Given the description of an element on the screen output the (x, y) to click on. 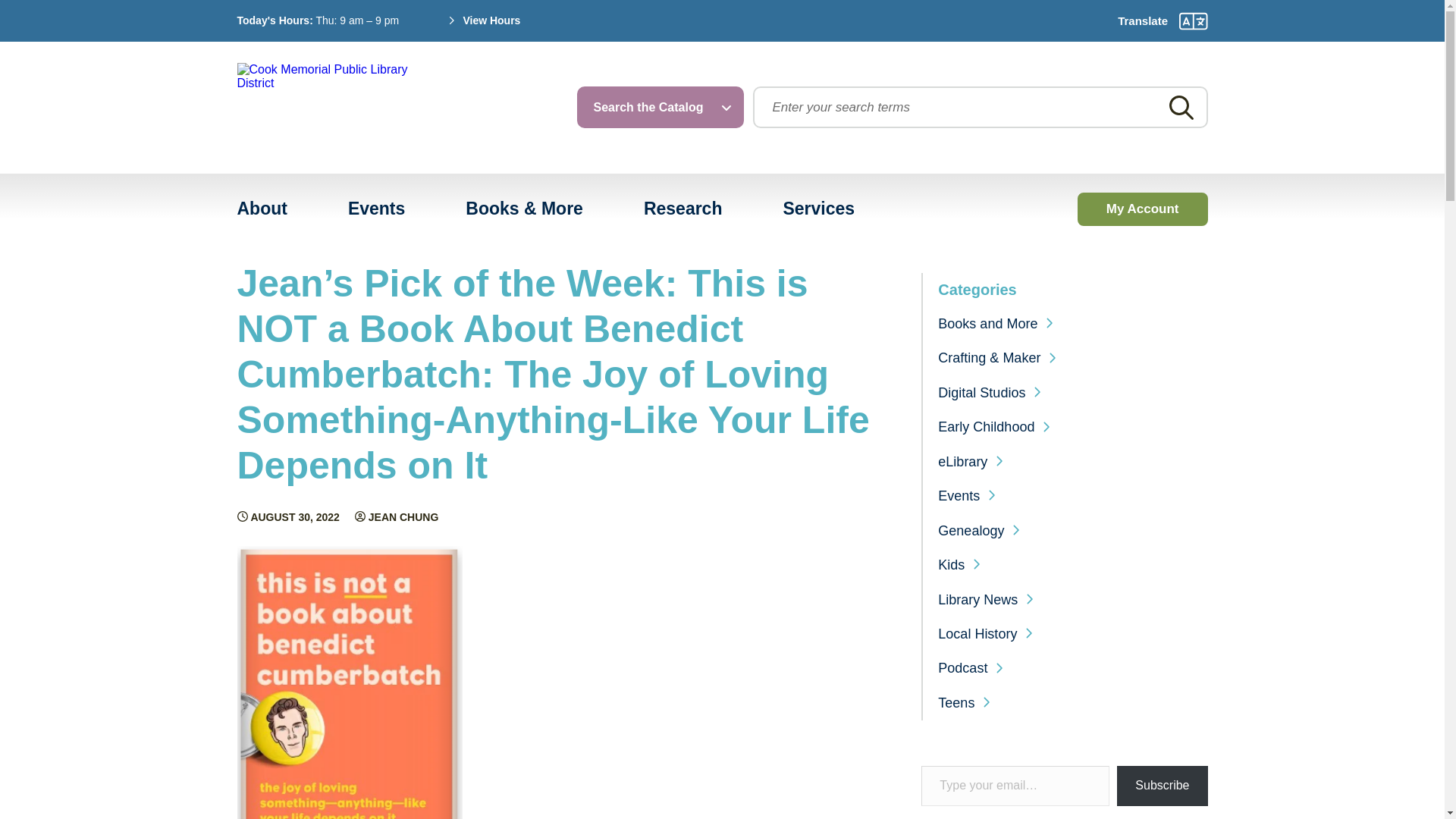
About (261, 209)
Please fill in this field. (1015, 785)
Events (376, 209)
